Given the description of an element on the screen output the (x, y) to click on. 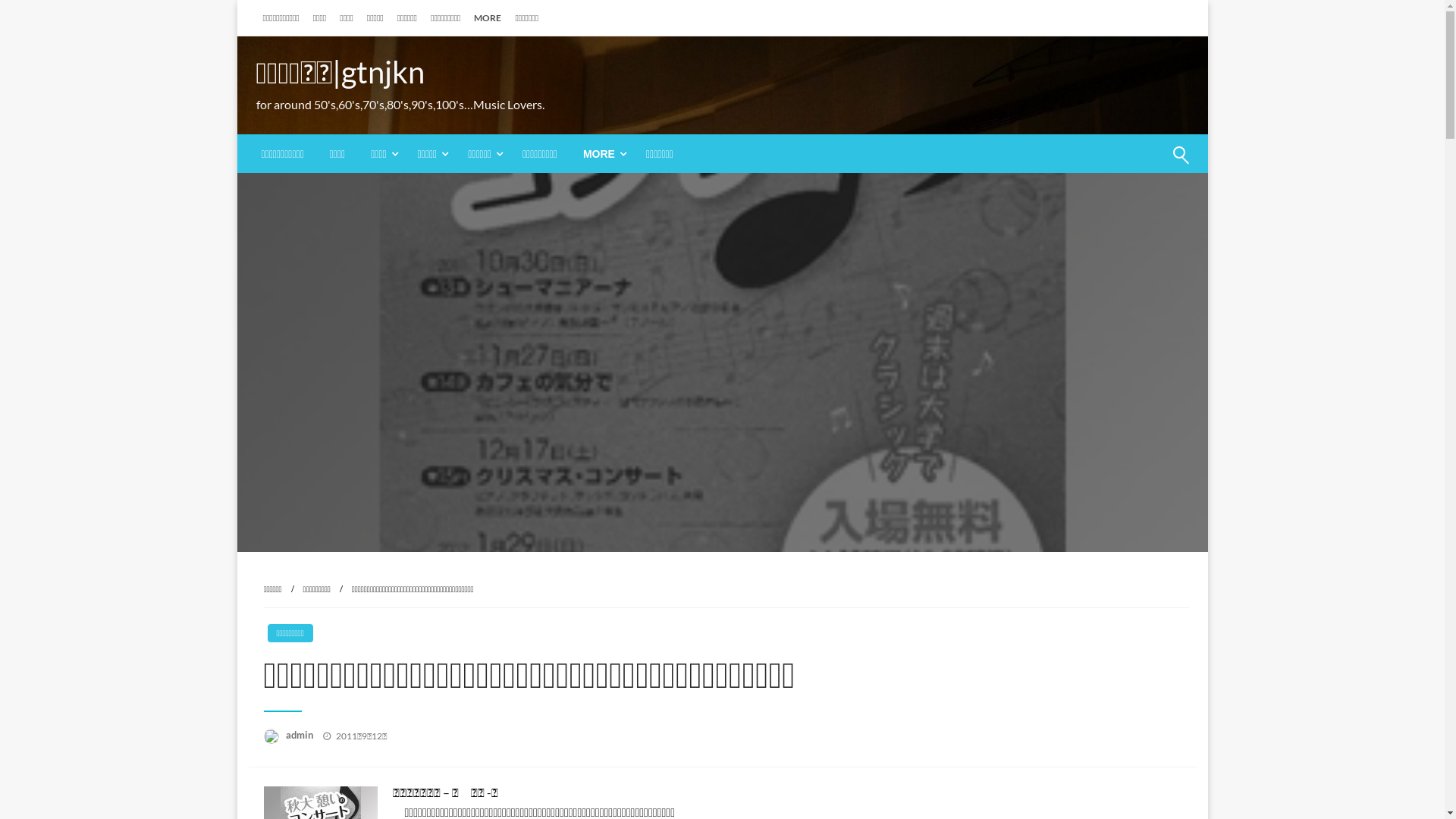
MORE Element type: text (487, 17)
MORE Element type: text (601, 153)
admin Element type: text (299, 734)
